Given the description of an element on the screen output the (x, y) to click on. 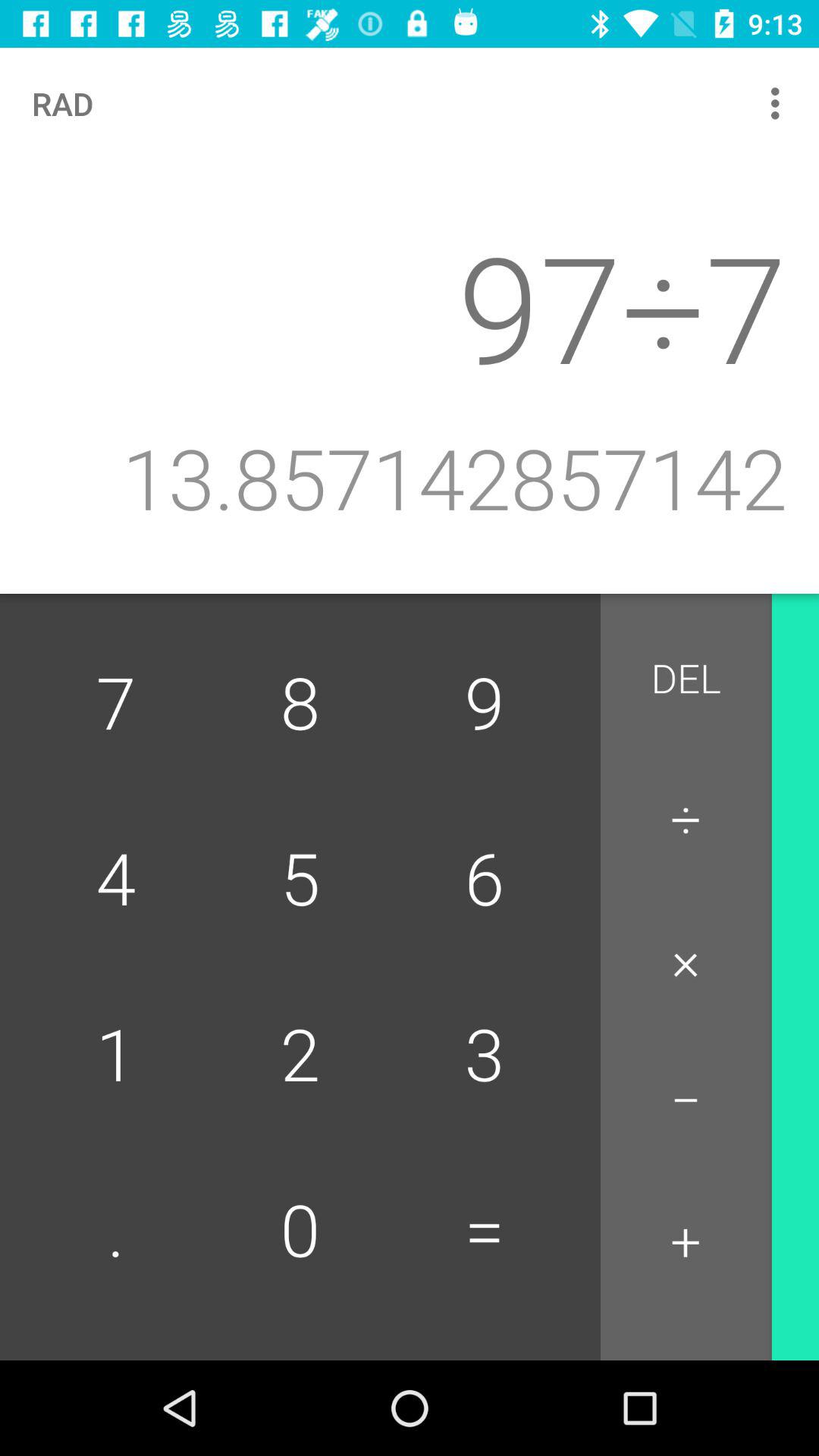
open the icon to the right of the rad (779, 103)
